Given the description of an element on the screen output the (x, y) to click on. 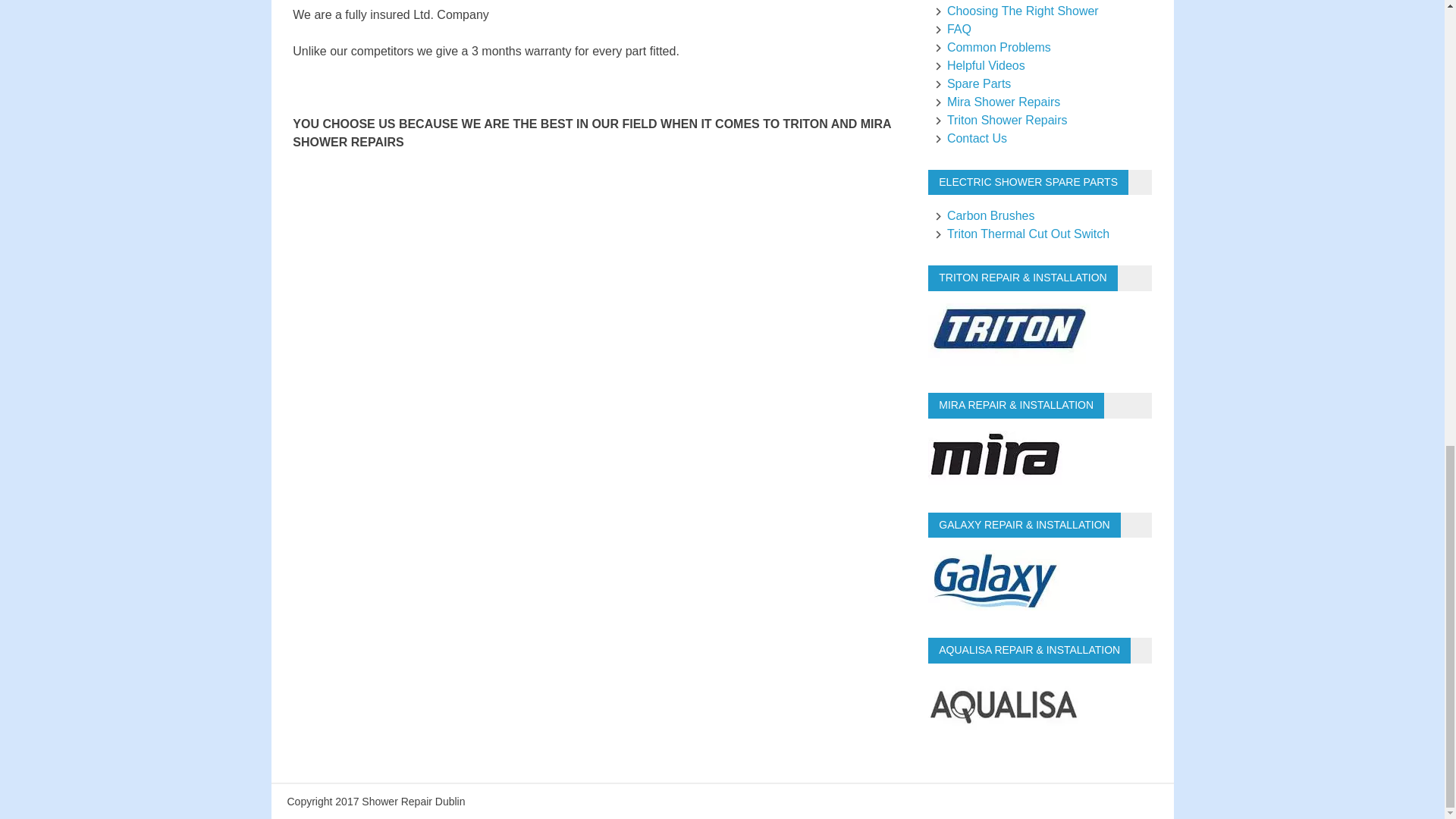
Choosing The Right Shower (1015, 10)
Mira Shower Repairs (995, 101)
Helpful Videos (978, 65)
Spare Parts (970, 83)
FAQ (951, 29)
Triton Thermal Cut Out Switch (1020, 233)
Carbon Brushes (982, 215)
Common Problems (991, 47)
Contact Us (969, 137)
Triton Shower Repairs (999, 119)
